Given the description of an element on the screen output the (x, y) to click on. 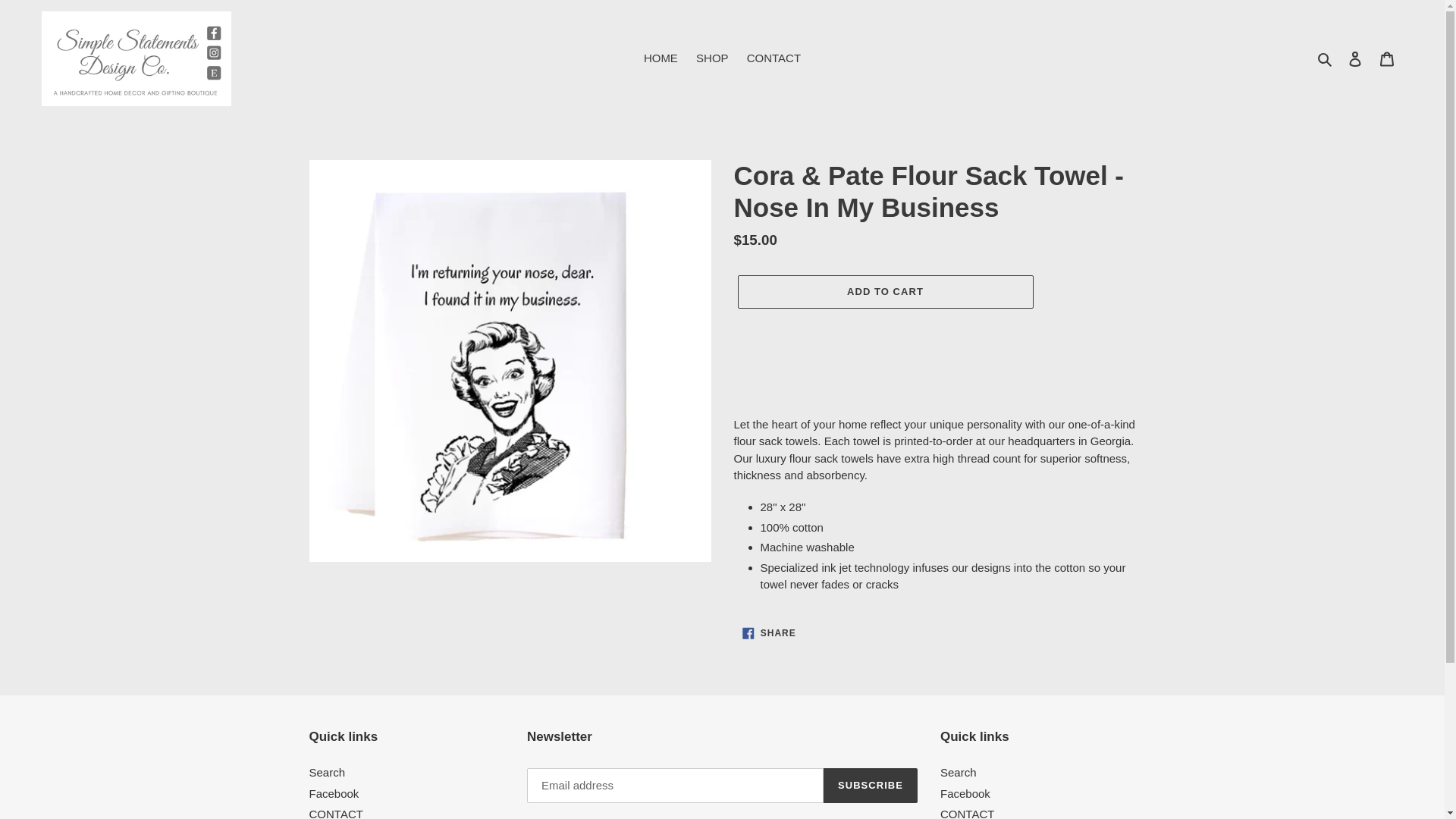
CONTACT (335, 813)
SUBSCRIBE (870, 785)
Search (958, 771)
Facebook (333, 793)
ADD TO CART (884, 291)
Search (327, 771)
Cart (1387, 58)
Log in (1355, 58)
CONTACT (773, 58)
Facebook (965, 793)
